Given the description of an element on the screen output the (x, y) to click on. 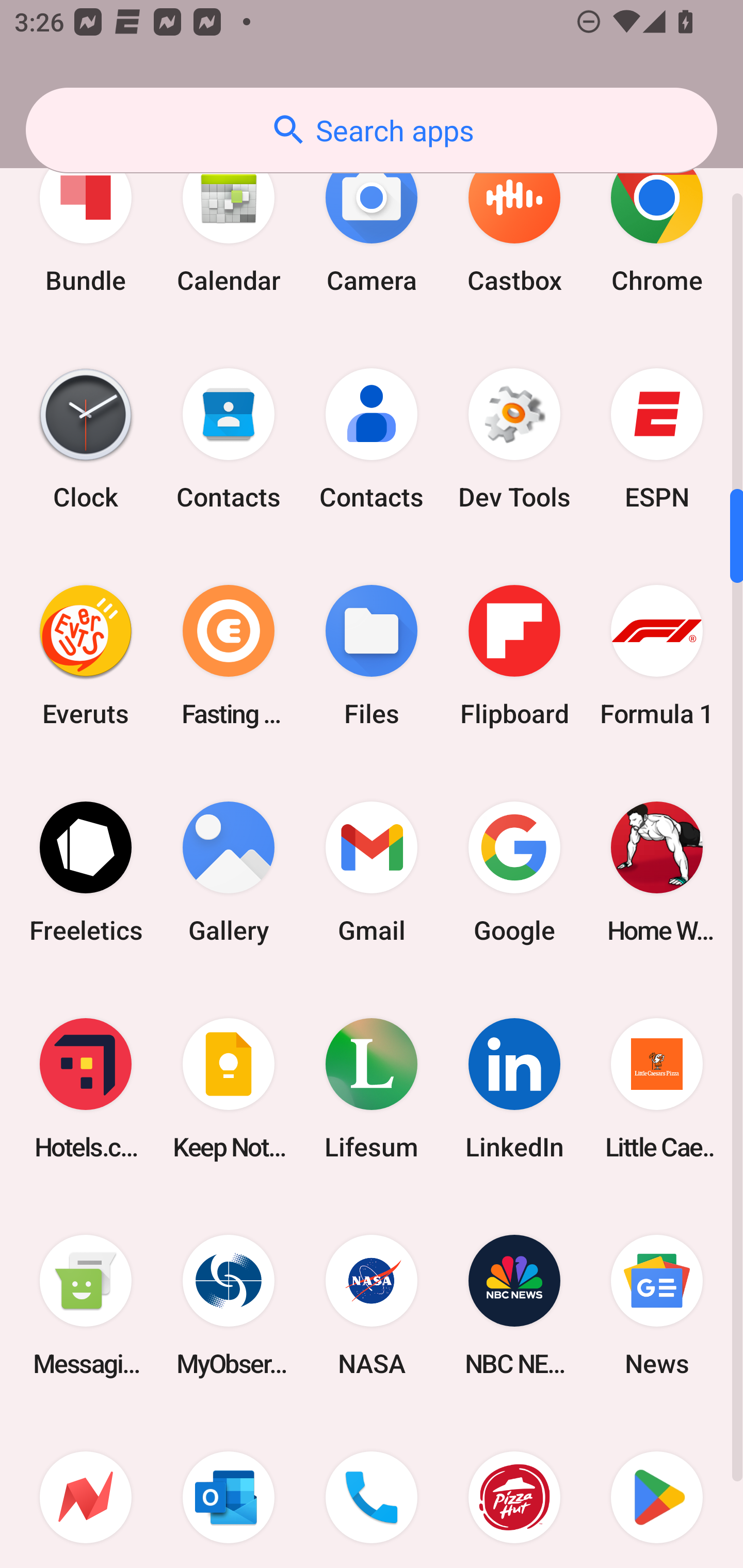
  Search apps (371, 130)
Bundle (85, 222)
Calendar (228, 222)
Camera (371, 222)
Castbox (514, 222)
Chrome (656, 222)
Clock (85, 438)
Contacts (228, 438)
Contacts (371, 438)
Dev Tools (514, 438)
ESPN (656, 438)
Everuts (85, 655)
Fasting Coach (228, 655)
Files (371, 655)
Flipboard (514, 655)
Formula 1 (656, 655)
Freeletics (85, 871)
Gallery (228, 871)
Gmail (371, 871)
Google (514, 871)
Home Workout (656, 871)
Hotels.com (85, 1088)
Keep Notes (228, 1088)
Lifesum (371, 1088)
LinkedIn (514, 1088)
Little Caesars Pizza (656, 1088)
Messaging (85, 1305)
MyObservatory (228, 1305)
NASA (371, 1305)
NBC NEWS (514, 1305)
News (656, 1305)
NewsBreak (85, 1491)
Outlook (228, 1491)
Phone (371, 1491)
Pizza Hut HK & Macau (514, 1491)
Play Store (656, 1491)
